Given the description of an element on the screen output the (x, y) to click on. 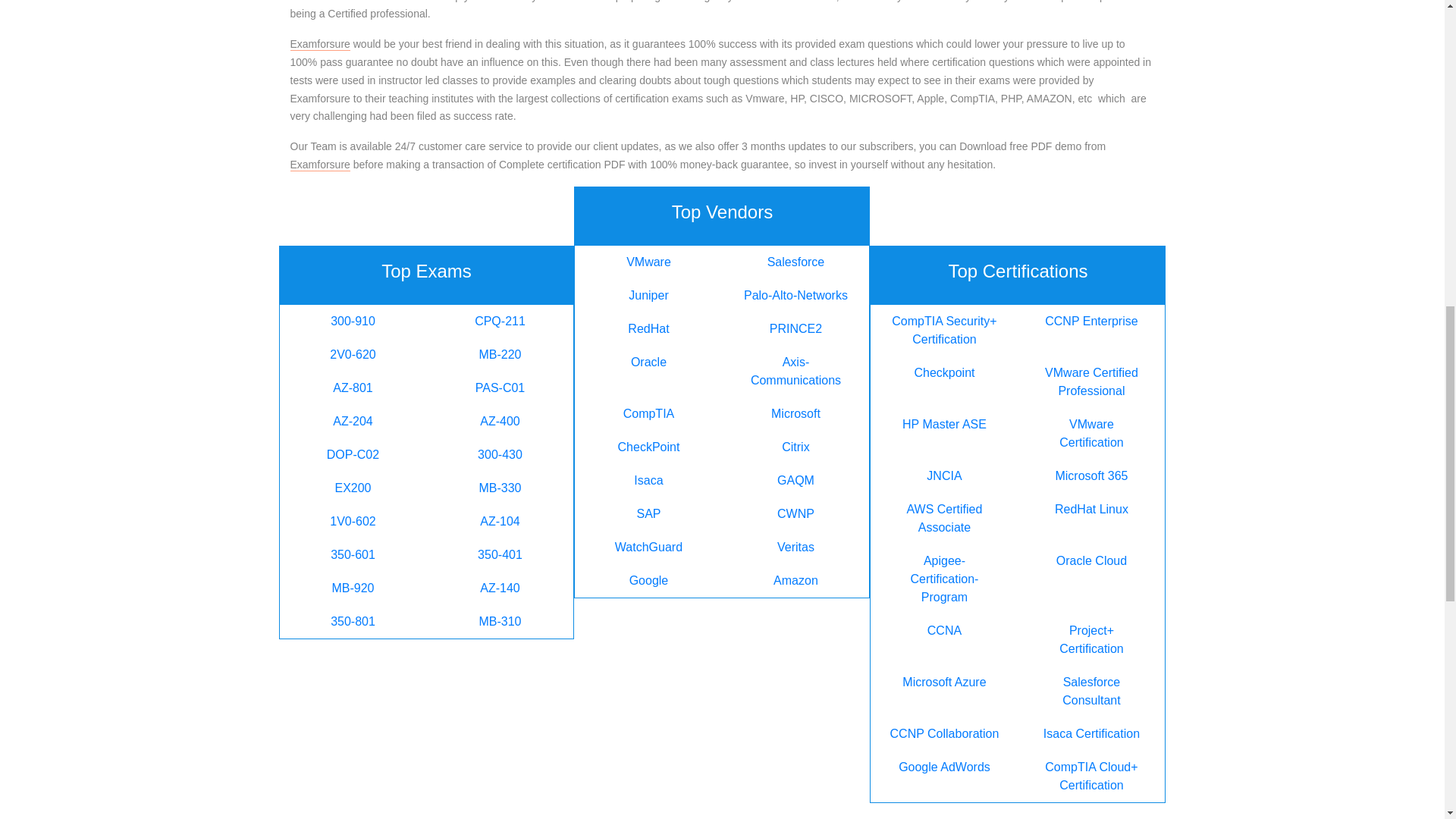
300-910 (352, 321)
MB-330 (500, 488)
300-430 (500, 454)
CPQ-211 (500, 321)
EX200 (352, 488)
2V0-620 (352, 354)
AZ-204 (352, 421)
PAS-C01 (500, 387)
Examforsure (319, 164)
DOP-C02 (352, 454)
